Given the description of an element on the screen output the (x, y) to click on. 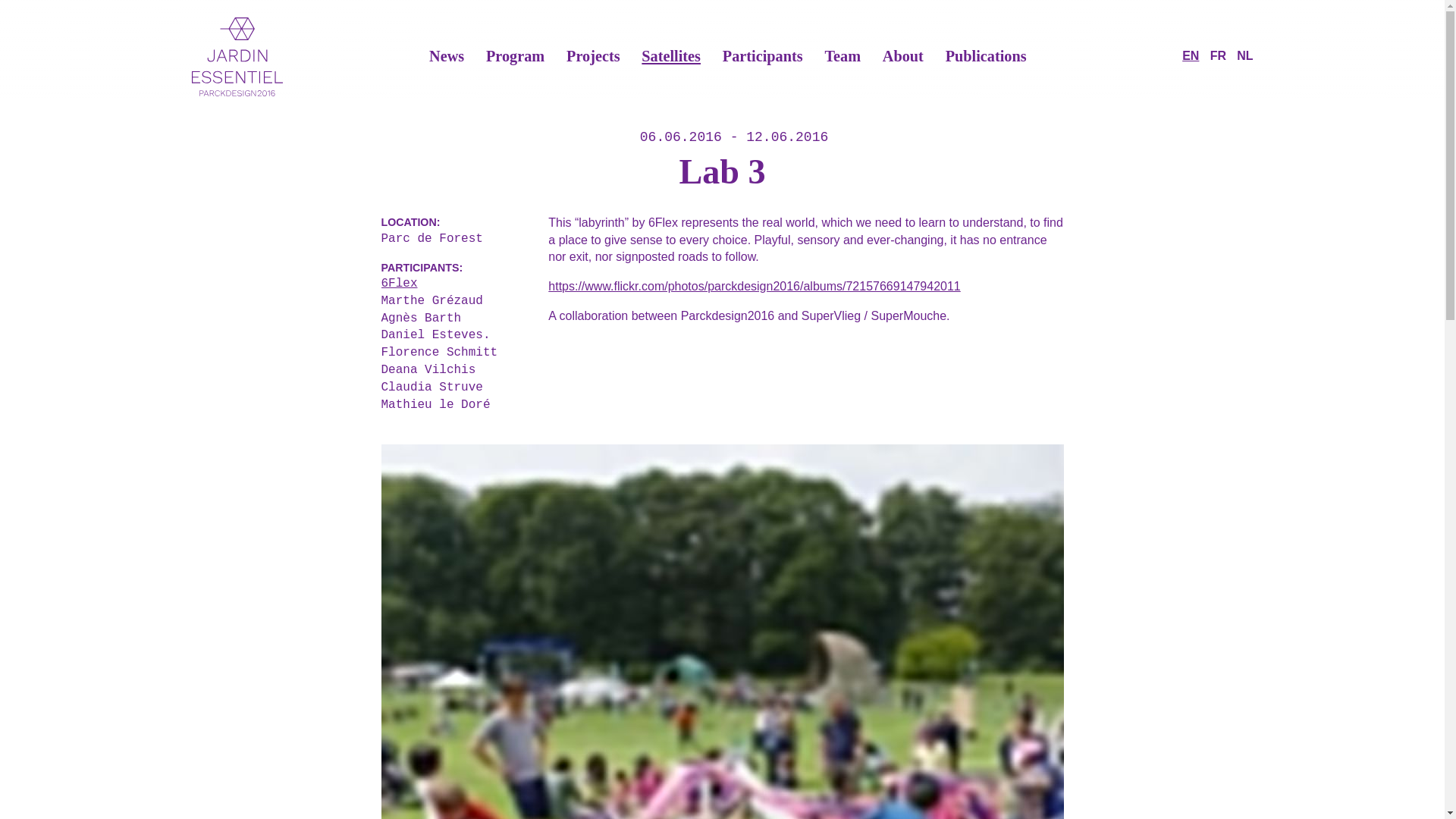
Publications (985, 55)
FR (1217, 55)
About (902, 55)
Nederlands (1244, 55)
Satellites (671, 55)
News (446, 55)
Program (515, 55)
Team (842, 55)
6Flex (455, 283)
EN (1190, 55)
Projects (593, 55)
NL (1244, 55)
Participants (762, 55)
